Given the description of an element on the screen output the (x, y) to click on. 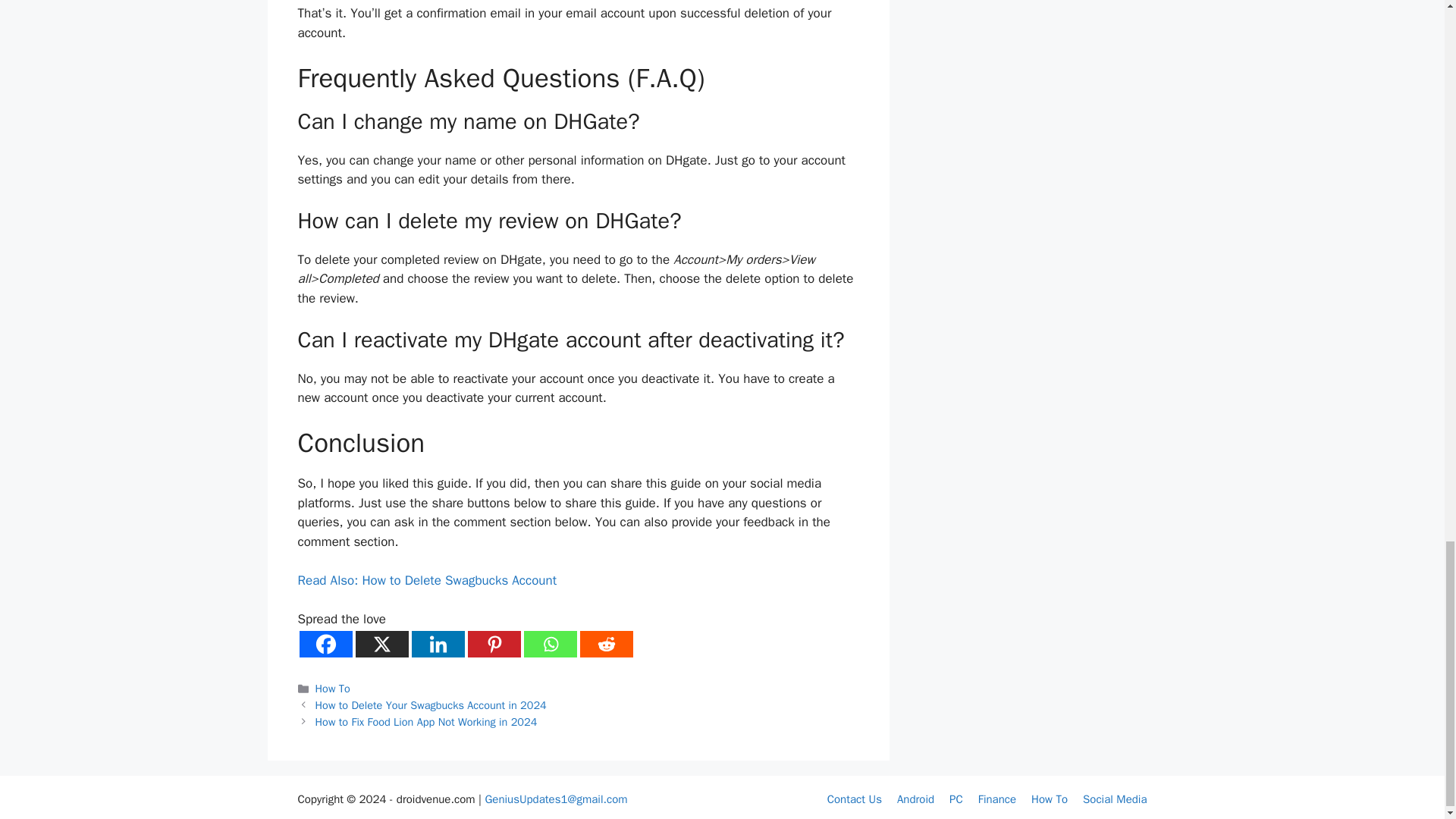
Android (915, 798)
How to Delete Your Swagbucks Account in 2024 (431, 704)
Whatsapp (549, 643)
PC (955, 798)
Facebook (325, 643)
How to Fix Food Lion App Not Working in 2024 (426, 721)
X (381, 643)
Linkedin (437, 643)
Finance (997, 798)
How To (1048, 798)
